Given the description of an element on the screen output the (x, y) to click on. 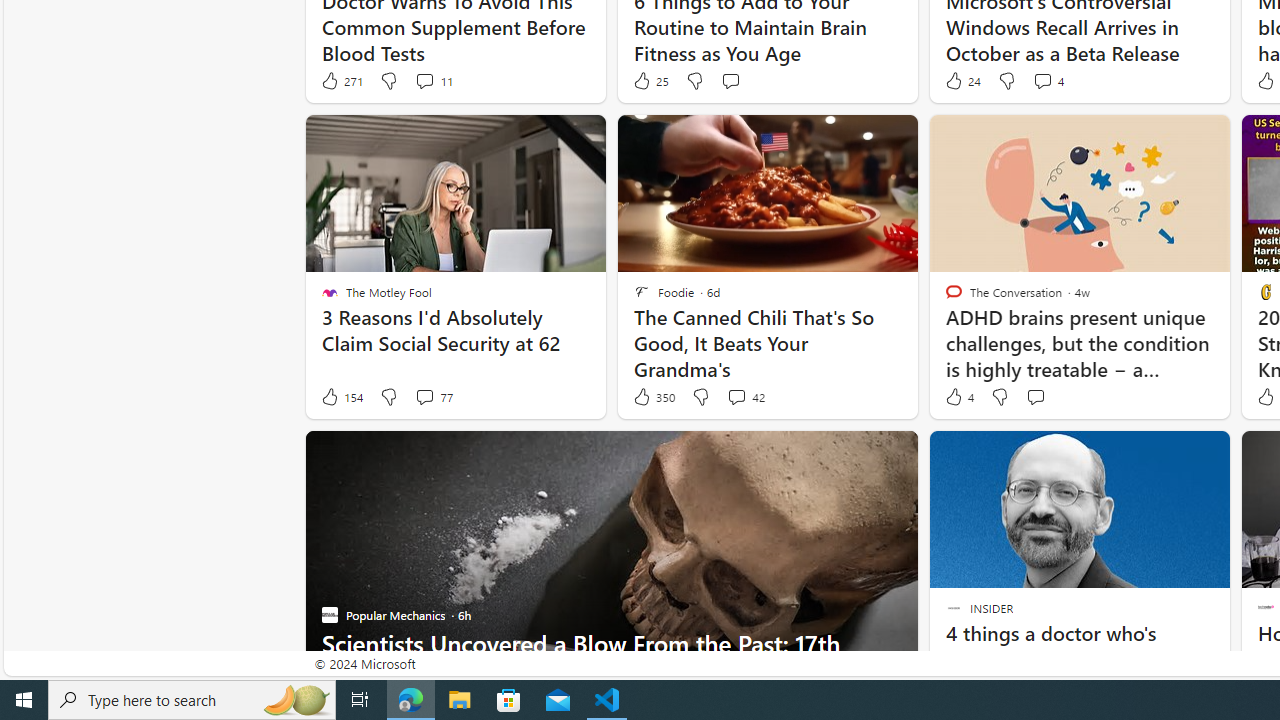
View comments 11 Comment (432, 80)
271 Like (341, 80)
View comments 11 Comment (424, 80)
View comments 42 Comment (745, 397)
154 Like (341, 397)
